Given the description of an element on the screen output the (x, y) to click on. 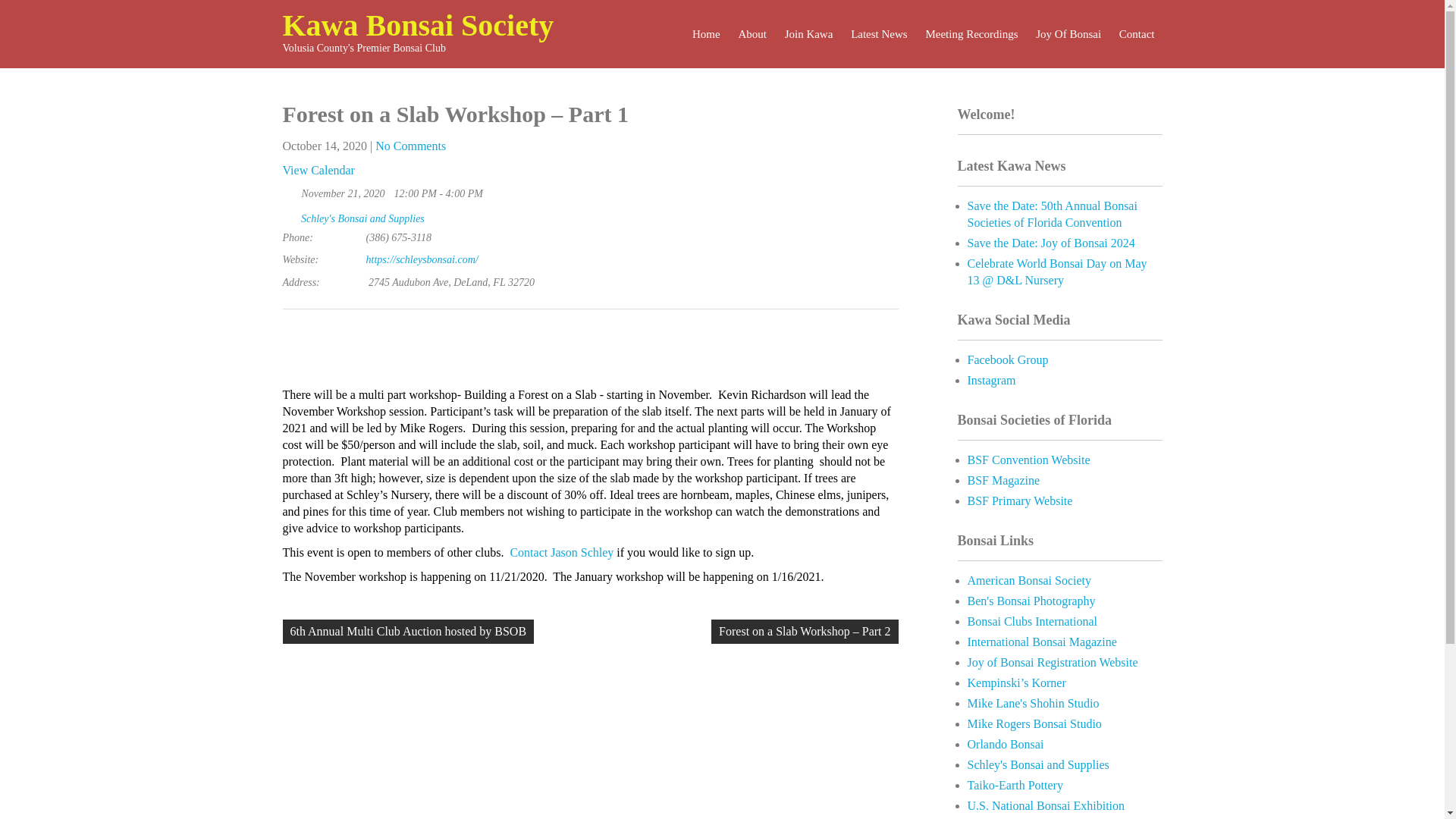
Contact Jason Schley (560, 552)
Kawa Bonsai Society (417, 25)
Instagram (992, 379)
BSF Magazine (1004, 480)
Date (290, 189)
Bonsai Clubs International (1032, 621)
Latest News (879, 33)
Contact (1136, 33)
American Bonsai Society (1030, 580)
Join Kawa (809, 33)
Schley's Bonsai and Supplies (363, 219)
BSF Convention Website (1029, 459)
Meeting Recordings (971, 33)
Save the Date: Joy of Bonsai 2024 (1051, 242)
Joy Of Bonsai (1067, 33)
